Given the description of an element on the screen output the (x, y) to click on. 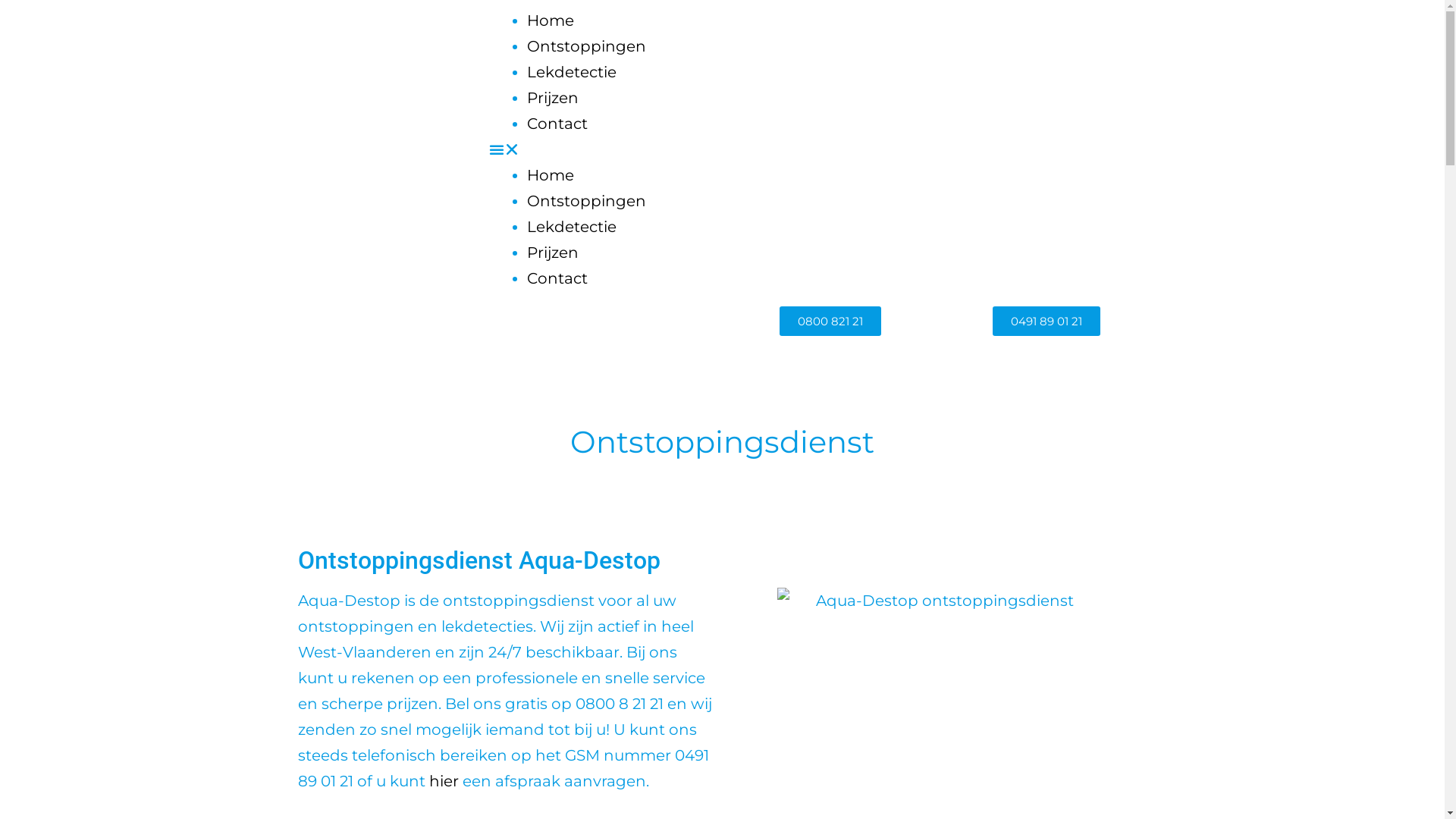
0491 89 01 21 Element type: text (1046, 320)
Home Element type: text (550, 20)
0800 821 21 Element type: text (830, 320)
hier Element type: text (445, 780)
Prijzen Element type: text (552, 97)
Prijzen Element type: text (552, 252)
Ontstoppingen Element type: text (586, 200)
Ontstoppingen Element type: text (586, 46)
Contact Element type: text (557, 123)
Contact Element type: text (557, 278)
Home Element type: text (550, 175)
Lekdetectie Element type: text (571, 226)
Lekdetectie Element type: text (571, 71)
